Given the description of an element on the screen output the (x, y) to click on. 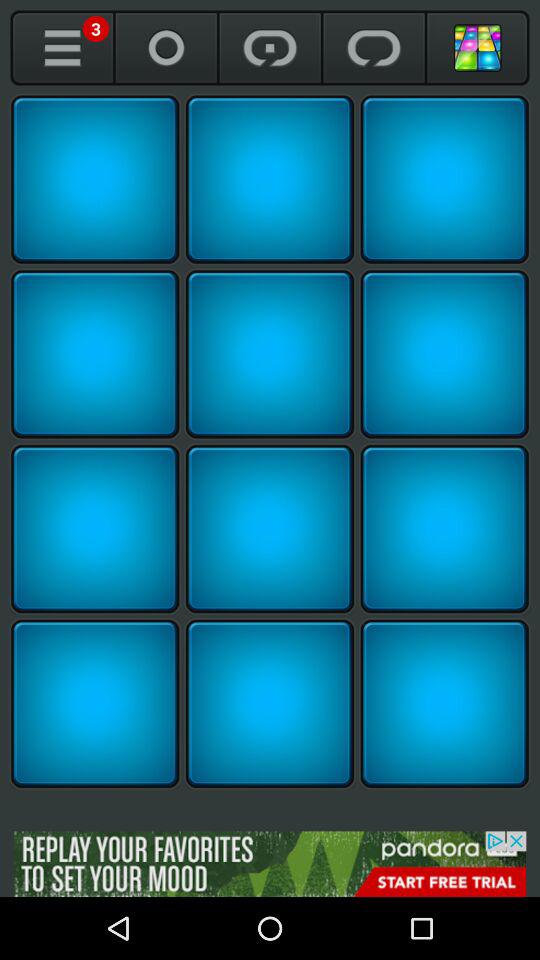
select square (95, 529)
